Given the description of an element on the screen output the (x, y) to click on. 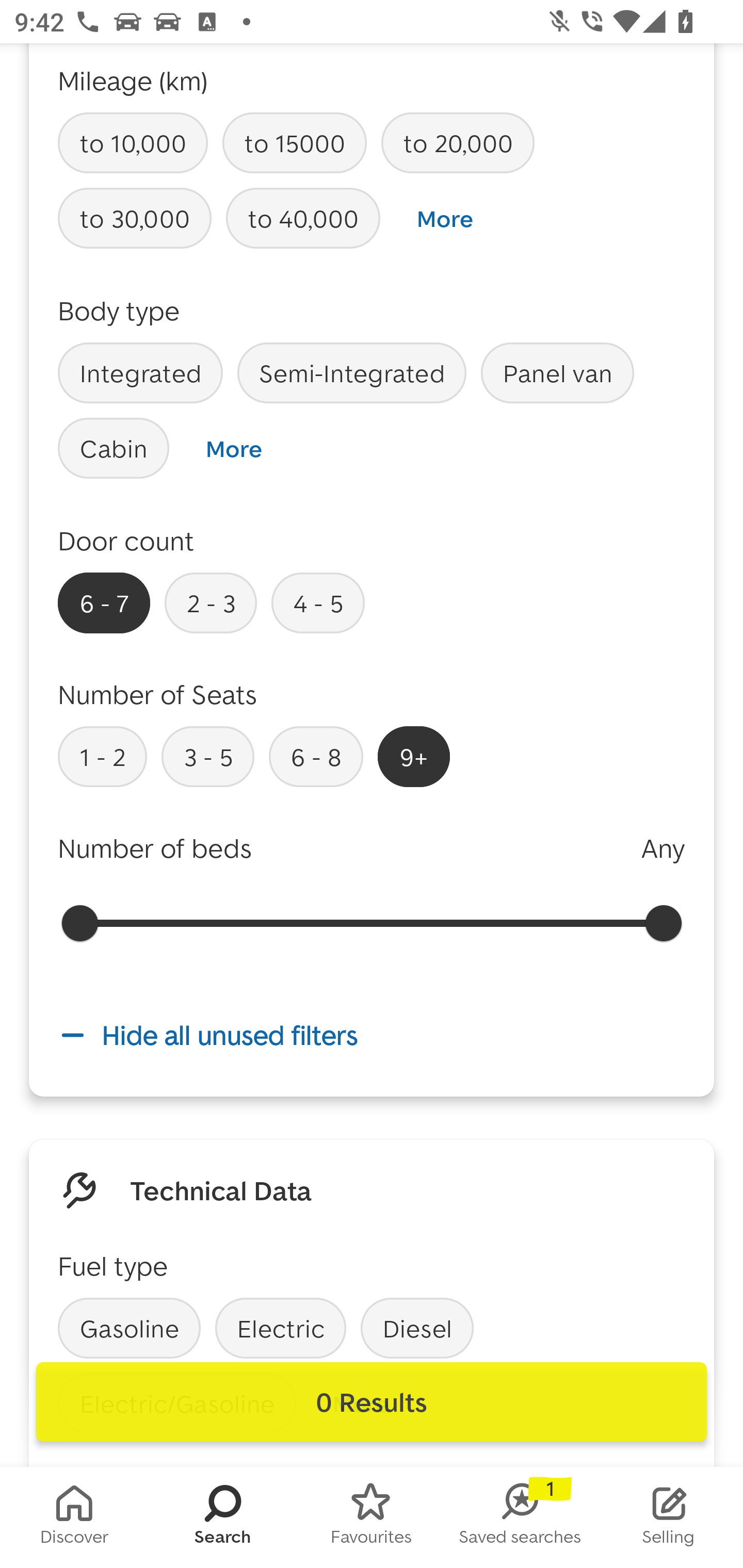
Mileage (km) (132, 79)
to 10,000 (132, 143)
to 15000 (294, 143)
to 20,000 (457, 143)
to 30,000 (134, 218)
to 40,000 (302, 218)
More (444, 218)
Body type (118, 310)
Integrated (139, 371)
Semi-Integrated (351, 371)
Panel van (556, 371)
Cabin (113, 447)
More (233, 448)
Door count (125, 540)
6 - 7 (103, 602)
2 - 3 (210, 602)
4 - 5 (317, 602)
Number of Seats (157, 694)
1 - 2 (102, 756)
3 - 5 (207, 756)
6 - 8 (315, 756)
9+ (413, 756)
Number of beds (154, 848)
Any (663, 848)
0.0 Range start, 0 8000.0 Range end, 8000 (371, 922)
Hide all unused filters (371, 1035)
Technical Data (221, 1189)
Fuel type (112, 1265)
Gasoline (128, 1327)
Electric (280, 1327)
Diesel (417, 1327)
0 Results (371, 1401)
HOMESCREEN Discover (74, 1517)
SEARCH Search (222, 1517)
FAVORITES Favourites (371, 1517)
SAVED_SEARCHES Saved searches 1 (519, 1517)
STOCK_LIST Selling (668, 1517)
